Given the description of an element on the screen output the (x, y) to click on. 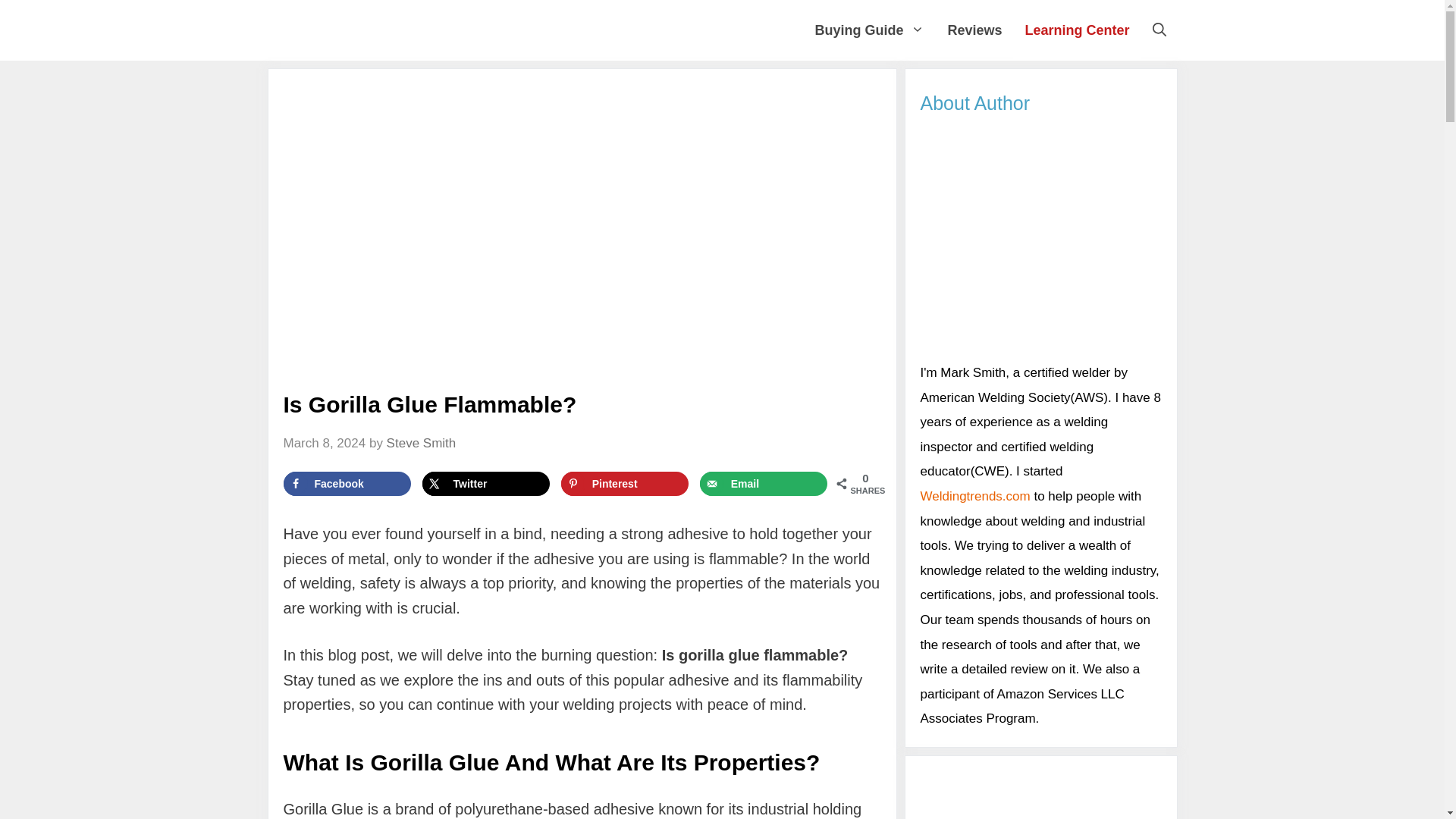
Facebook (347, 483)
Learning Center (1076, 30)
Share on Facebook (347, 483)
Share on X (486, 483)
View all posts by Steve Smith (422, 442)
Pinterest (624, 483)
Steve Smith (422, 442)
Twitter (486, 483)
Save to Pinterest (624, 483)
Reviews (974, 30)
Send over email (764, 483)
Welding Trends (435, 30)
Weldingtrends.com (975, 495)
Email (764, 483)
Buying Guide (869, 30)
